Given the description of an element on the screen output the (x, y) to click on. 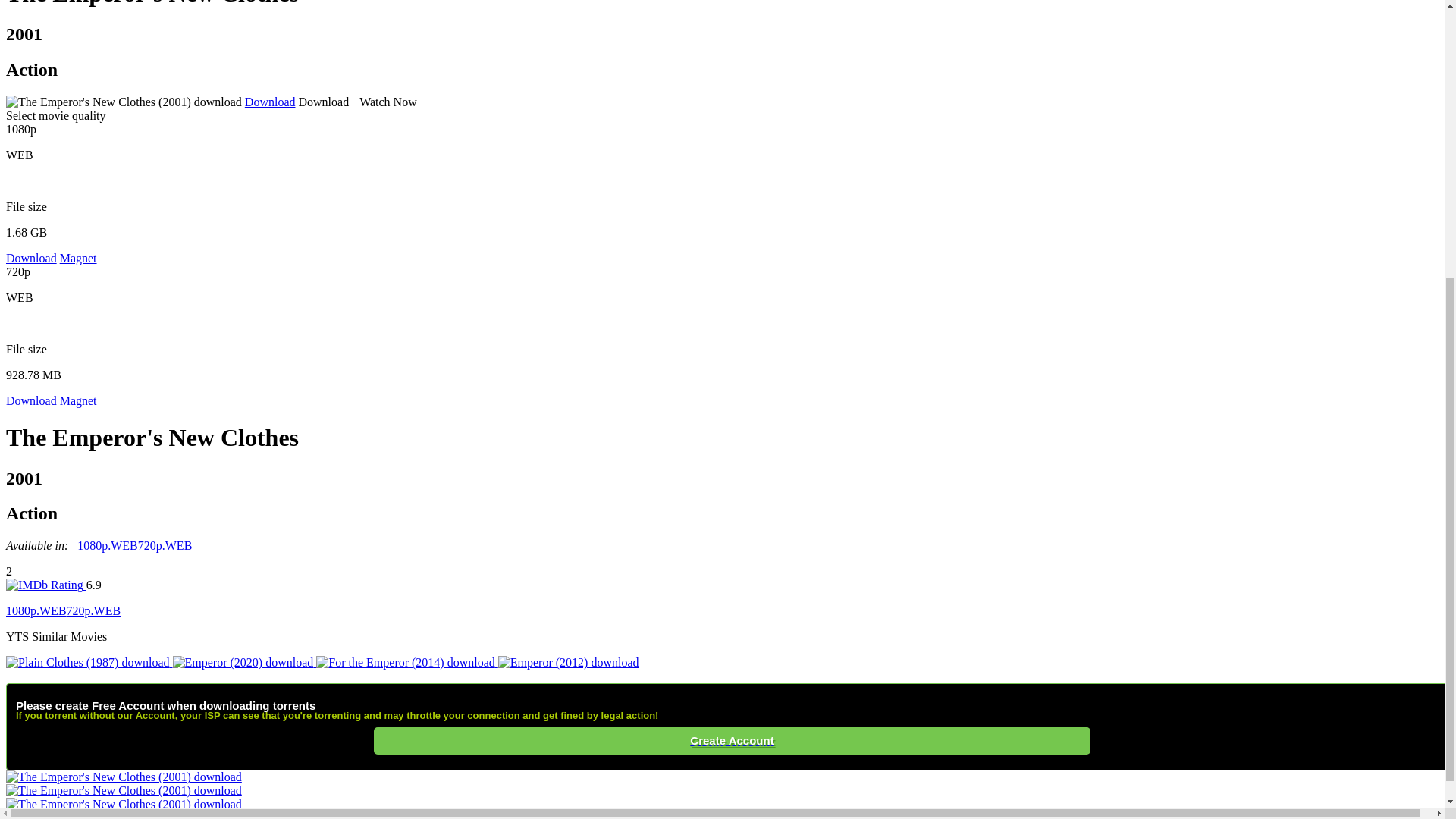
Download The Emperor's New Clothes 720p Torrent (30, 400)
Download The Emperor's New Clothes 1080p Torrent (107, 545)
Create Account (732, 740)
1080p.WEB (35, 610)
Magnet (78, 257)
IMDb Rating (45, 584)
Download (269, 101)
Download The Emperor's New Clothes 720p.WEB Torrent (93, 610)
Watch Now (384, 101)
Download The Emperor's New Clothes 720p Torrent (165, 545)
720p.WEB (165, 545)
Magnet (78, 400)
Download The Emperor's New Clothes 1080p.WEB Torrent (35, 610)
Download (30, 257)
Download (30, 400)
